Given the description of an element on the screen output the (x, y) to click on. 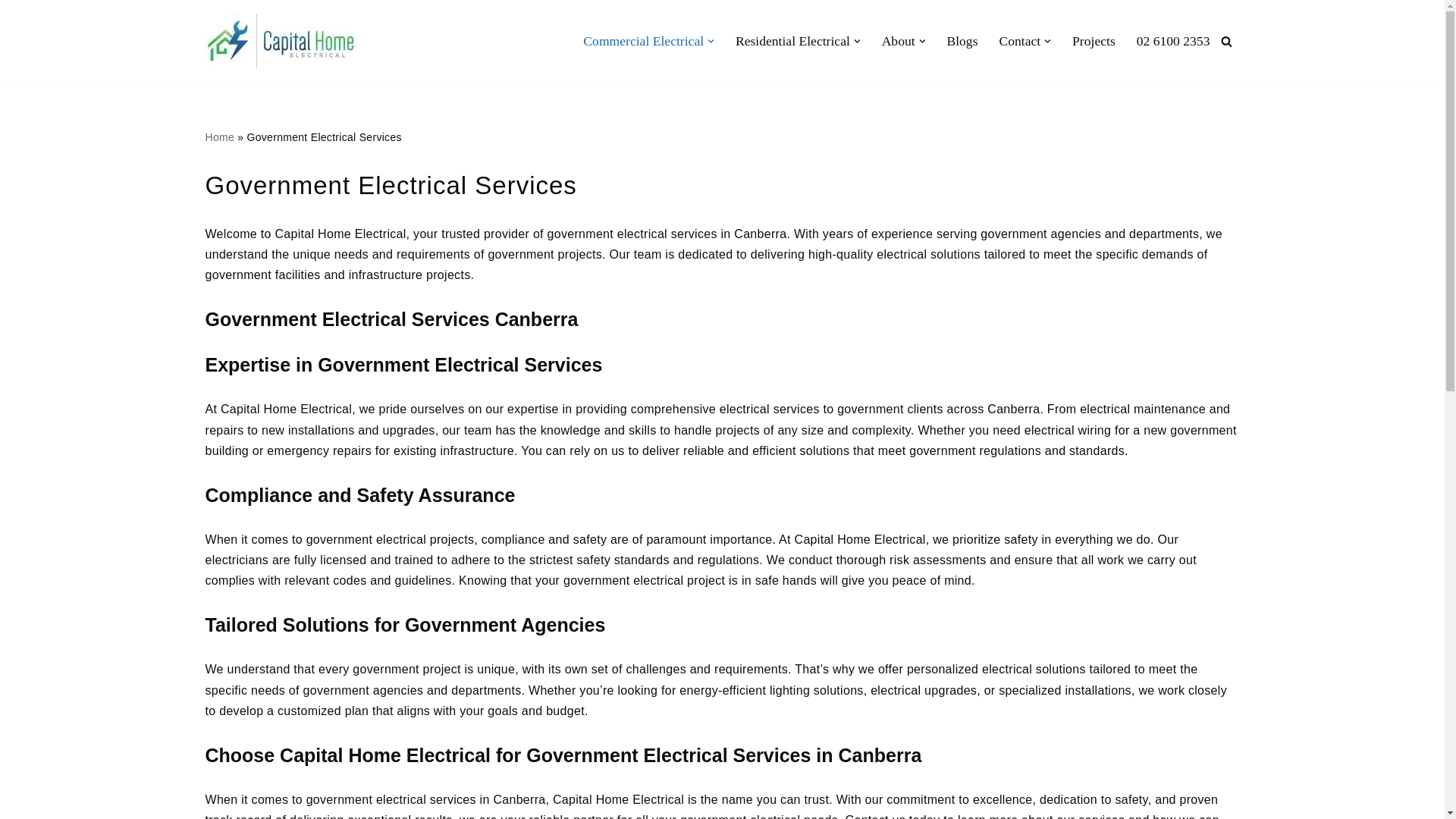
Residential Electrical (792, 40)
Contact (1019, 40)
About (898, 40)
Blogs (961, 40)
Skip to content (11, 31)
About Capital Home Electrical (898, 40)
Commercial Electrical (643, 40)
